Given the description of an element on the screen output the (x, y) to click on. 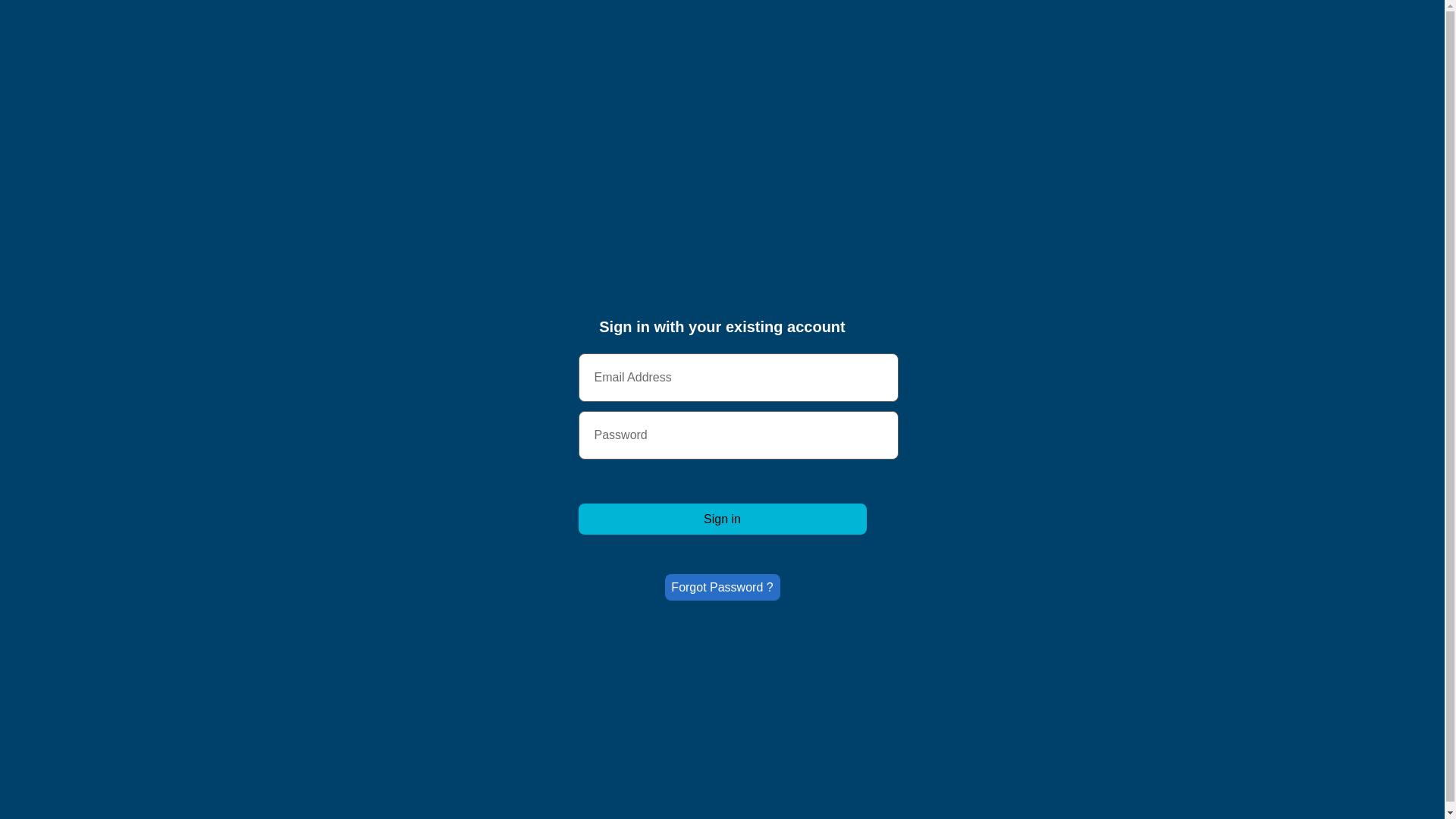
Forgot Password ? Element type: text (721, 587)
Please enter a valid email address. Element type: hover (737, 377)
Forgot Password ? Element type: text (721, 583)
Sign in Element type: text (721, 518)
